Given the description of an element on the screen output the (x, y) to click on. 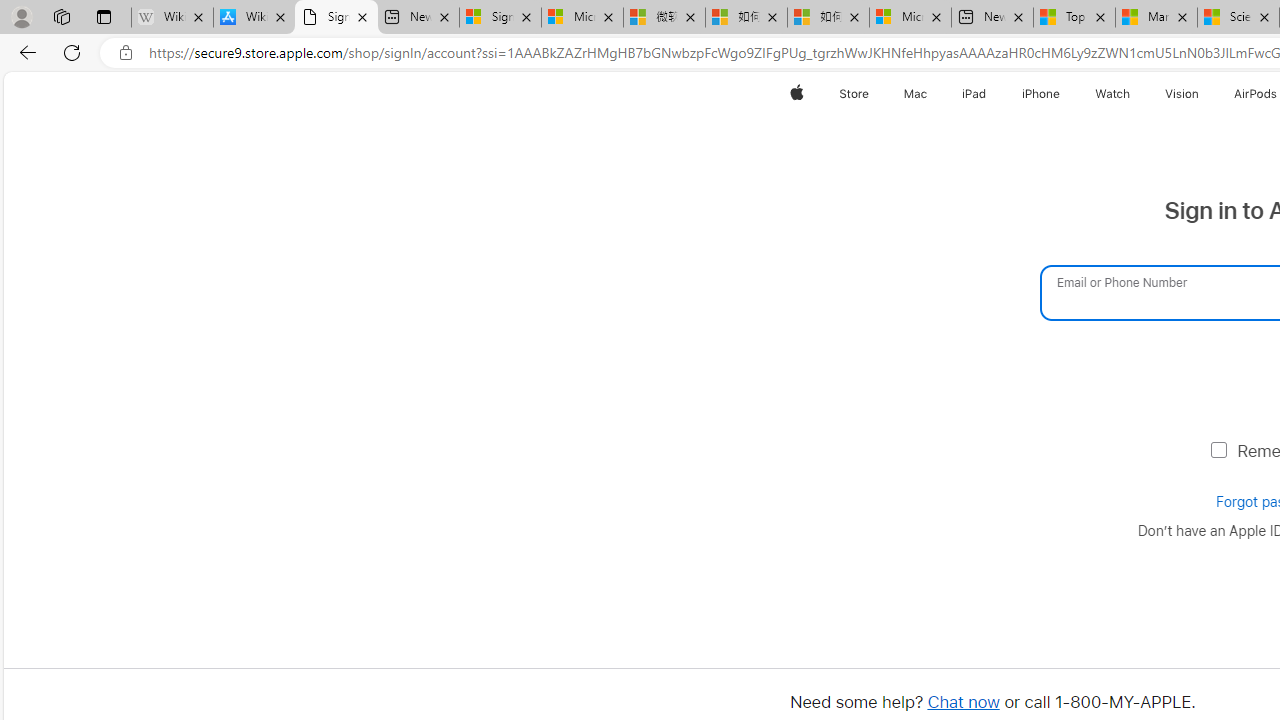
iPad (973, 93)
Chat now (Opens in a new window) (962, 701)
iPhone (1039, 93)
Sign in - Apple (336, 17)
Mac (915, 93)
Store (854, 93)
